Given the description of an element on the screen output the (x, y) to click on. 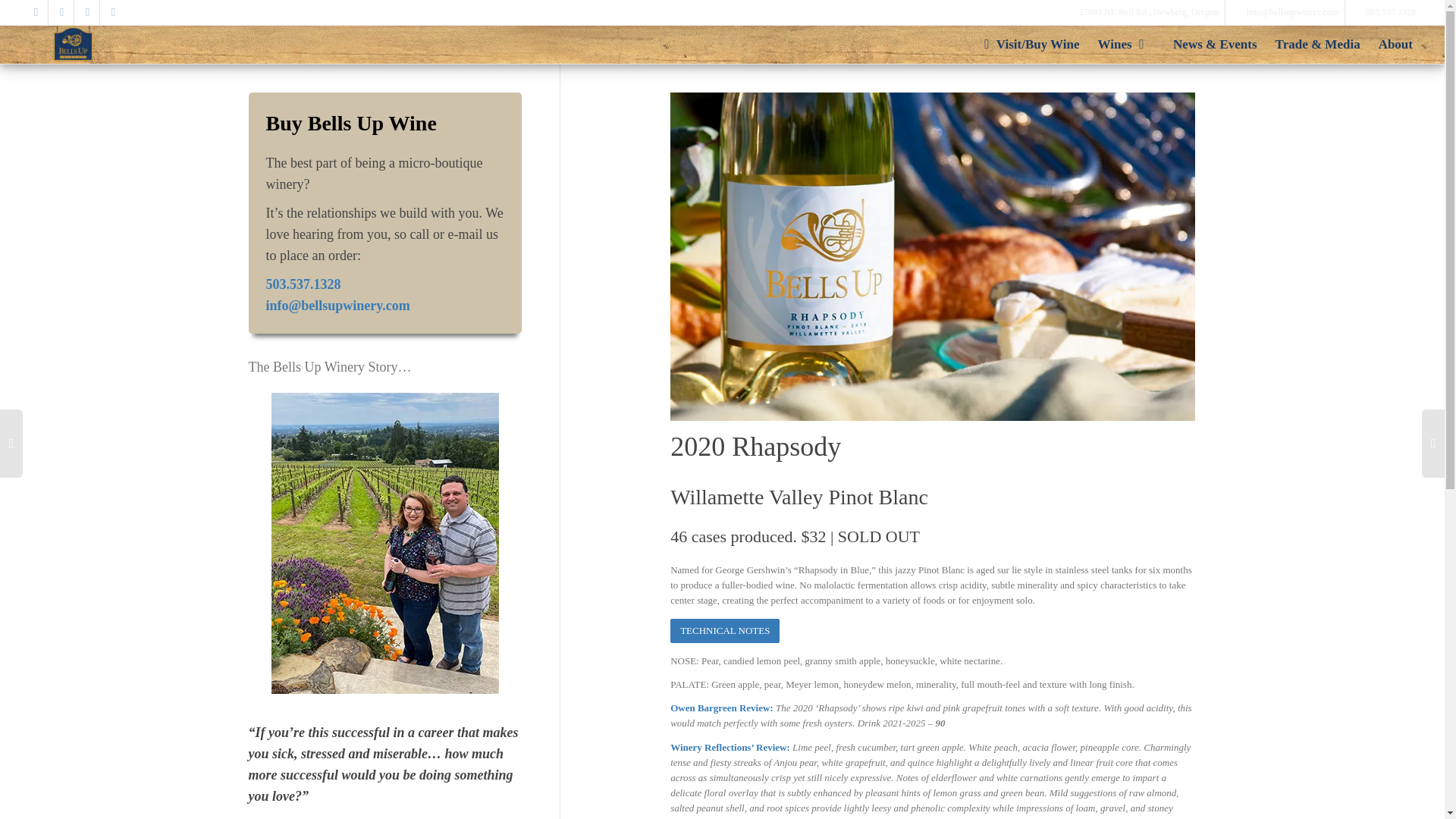
Wines (1126, 44)
27895 NE Bell Rd., Newberg, Oregon (1149, 12)
About (1395, 44)
About (1395, 44)
Owen Bargreen Review: (722, 707)
Wines (1126, 44)
503.537.1328 (1390, 12)
27895 NE Bell Rd., Newberg, Oregon (1149, 12)
Bells Up Winery (72, 43)
TECHNICAL NOTES (723, 631)
